Given the description of an element on the screen output the (x, y) to click on. 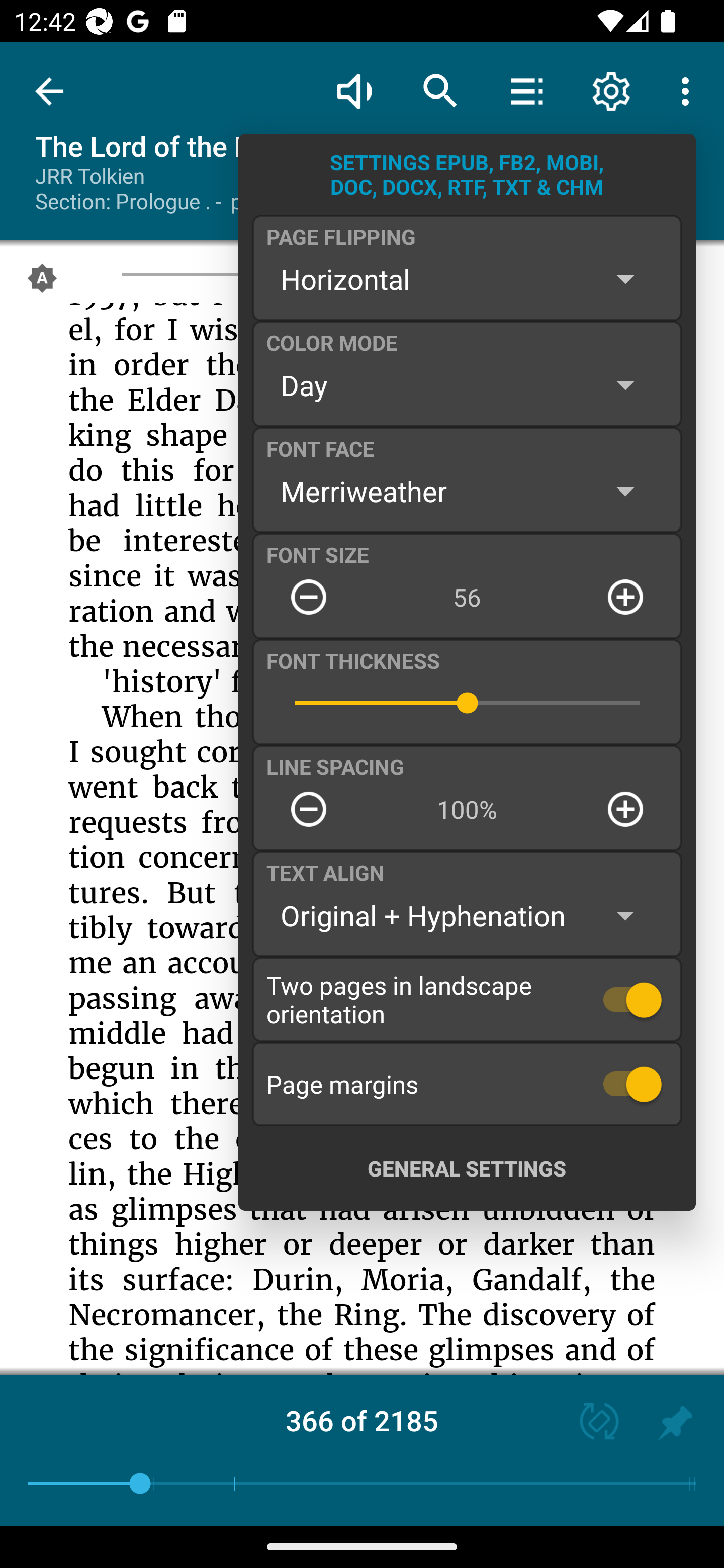
Horizontal (466, 278)
Day (466, 384)
Merriweather (466, 490)
Original + Hyphenation (466, 915)
Two pages in landscape orientation (467, 999)
Page margins (467, 1083)
GENERAL SETTINGS (466, 1167)
